Given the description of an element on the screen output the (x, y) to click on. 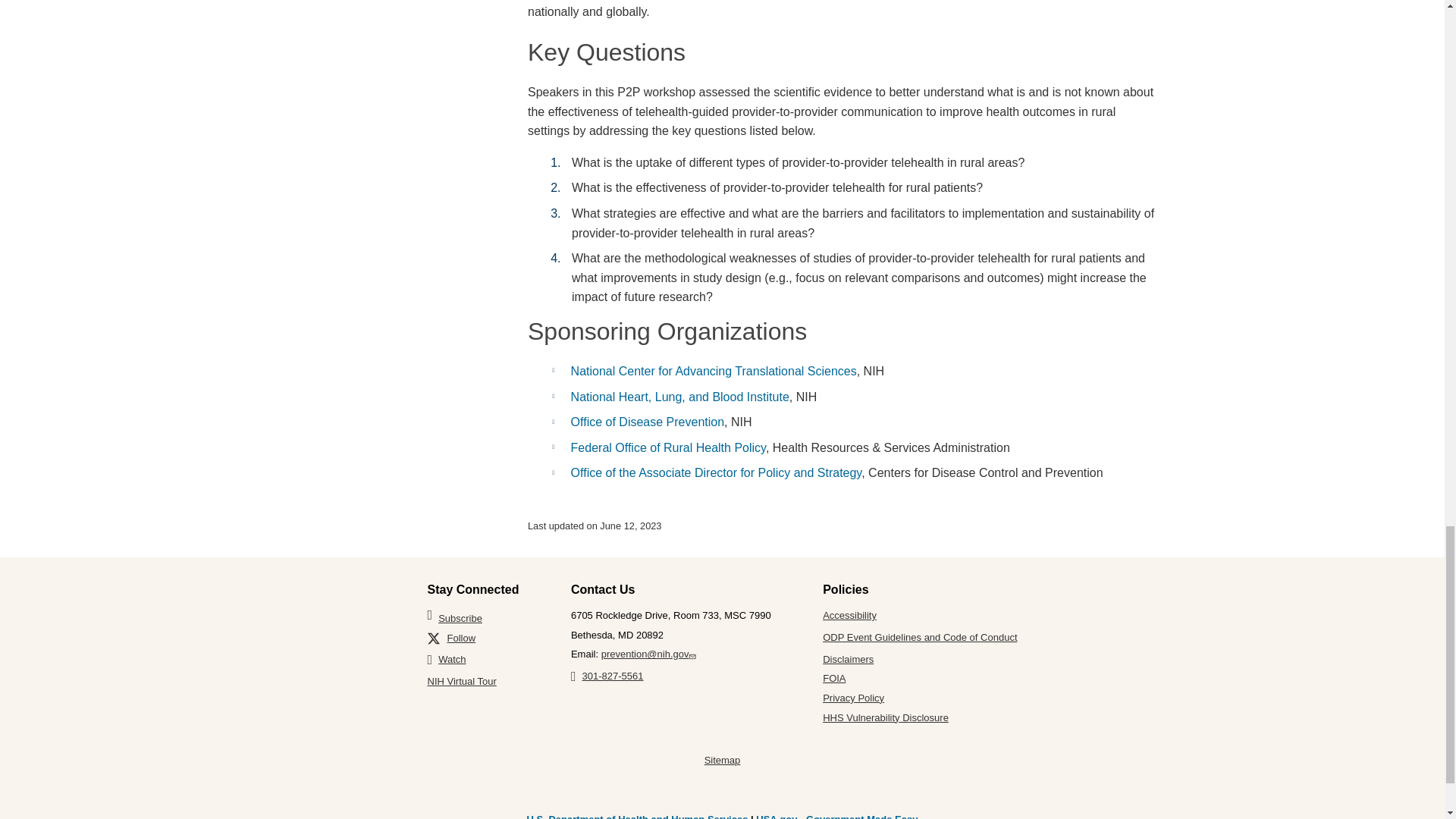
ODP Phone number (606, 676)
